Given the description of an element on the screen output the (x, y) to click on. 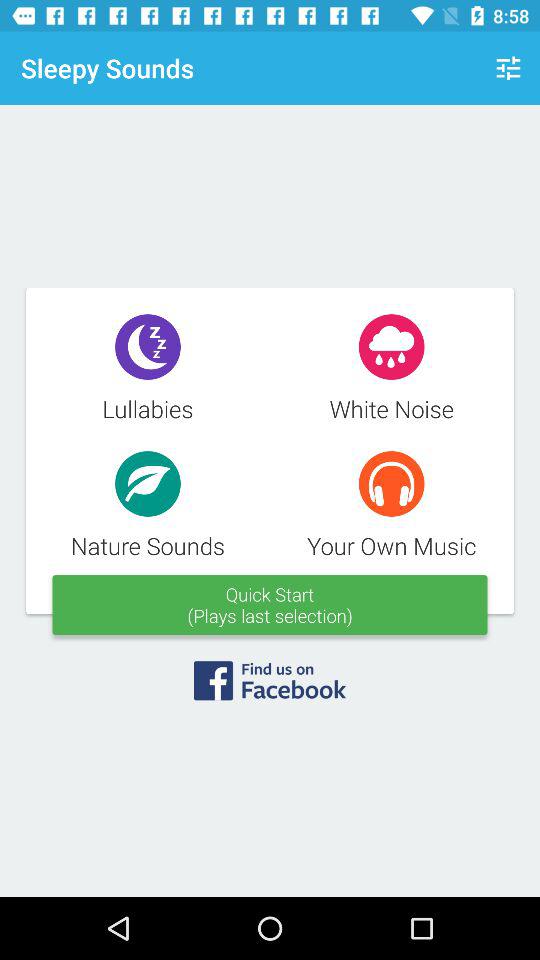
view app 's facebook (269, 687)
